Given the description of an element on the screen output the (x, y) to click on. 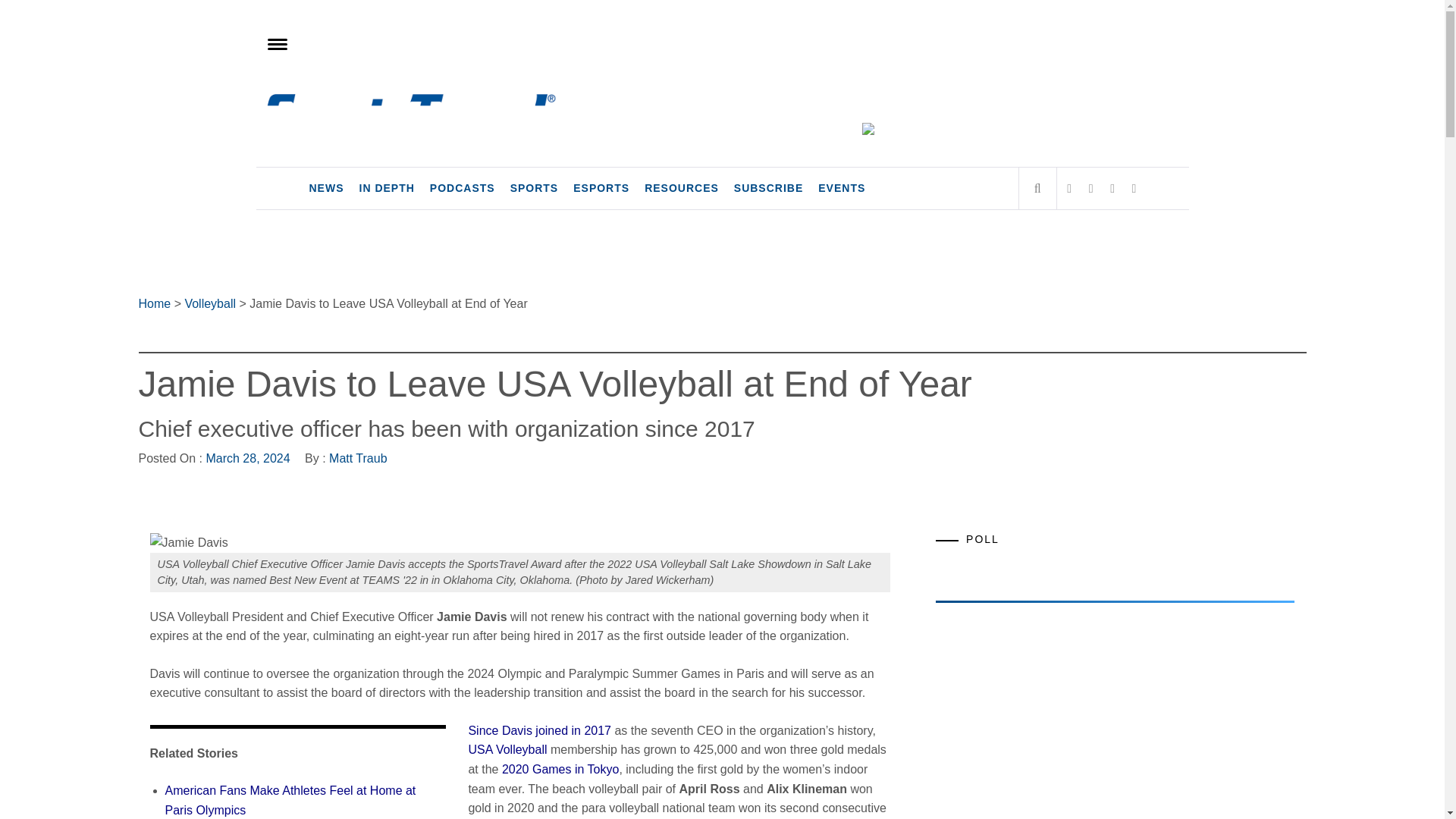
ESPORTS (601, 188)
SPORTS (534, 188)
SportsTravel (354, 108)
IN DEPTH (387, 188)
NEWS (326, 188)
RESOURCES (681, 188)
PODCASTS (462, 188)
